Given the description of an element on the screen output the (x, y) to click on. 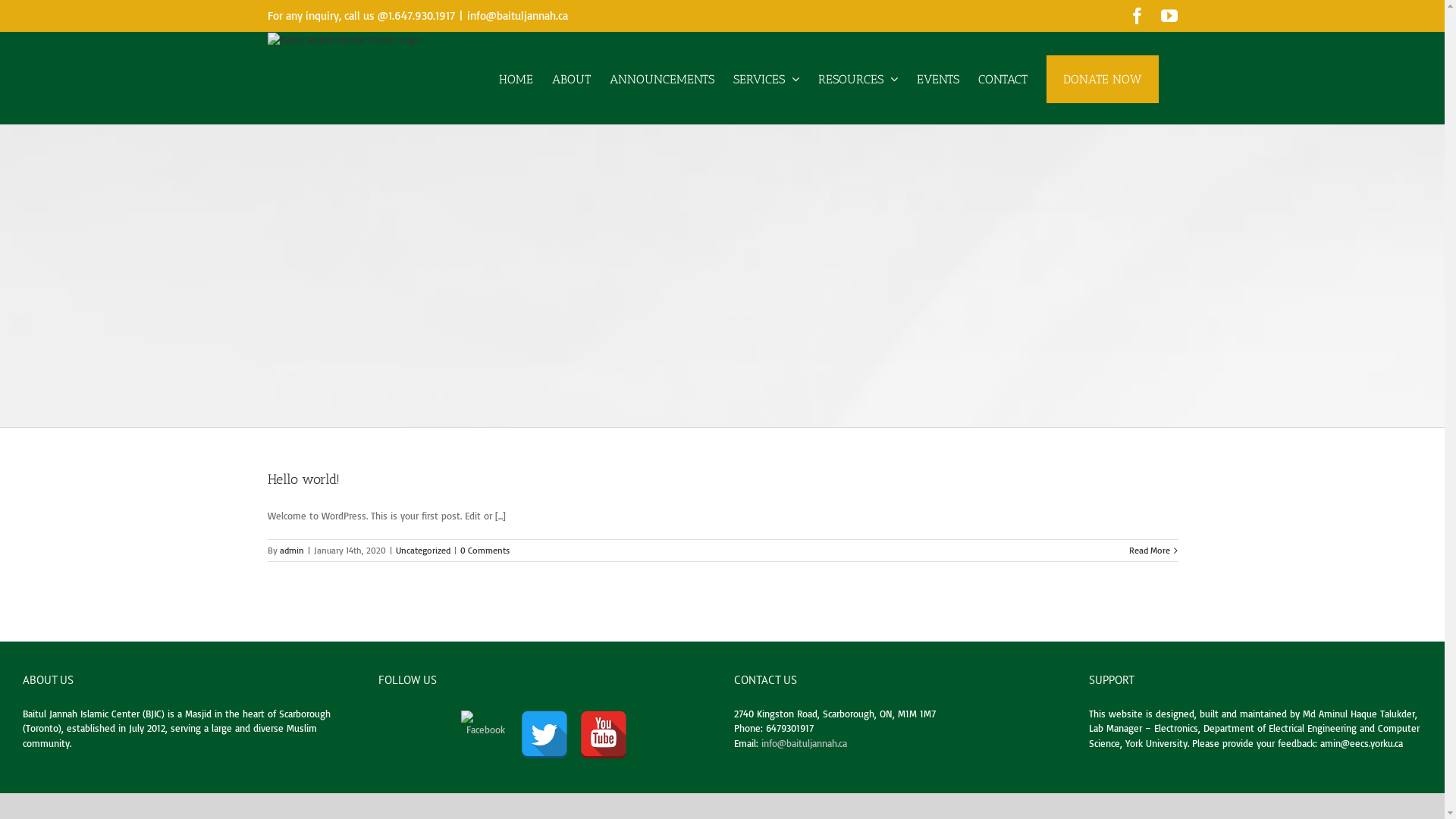
RESOURCES Element type: text (857, 77)
EVENTS Element type: text (937, 77)
Facebook Element type: hover (485, 733)
Read More Element type: text (1148, 549)
info@baituljannah.ca Element type: text (804, 743)
Twitter Element type: hover (544, 733)
DONATE NOW Element type: text (1102, 77)
0 Comments Element type: text (483, 549)
Uncategorized Element type: text (422, 549)
Hello world! Element type: text (302, 478)
Facebook Element type: text (1136, 15)
info@baituljannah.ca Element type: text (517, 15)
YouTube Element type: text (1168, 15)
SERVICES Element type: text (765, 77)
YouTube Element type: hover (603, 733)
admin Element type: text (291, 549)
ANNOUNCEMENTS Element type: text (661, 77)
ABOUT Element type: text (571, 77)
CONTACT Element type: text (1002, 77)
HOME Element type: text (515, 77)
